Given the description of an element on the screen output the (x, y) to click on. 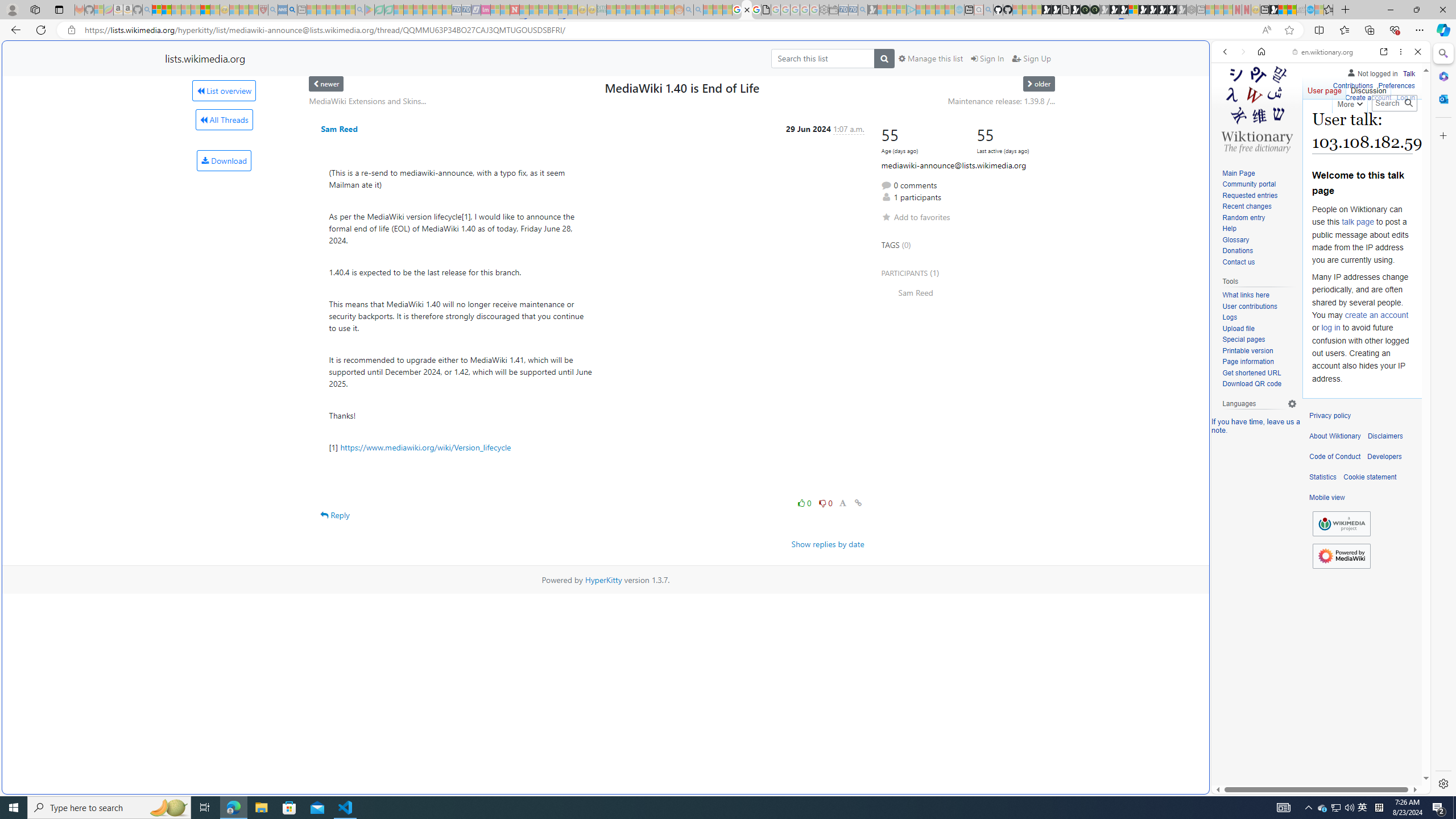
Logs (1229, 317)
Jobs - lastminute.com Investor Portal - Sleeping (485, 9)
Preferences (1396, 85)
Special pages (1259, 339)
Log in (1405, 98)
Printable version (1247, 350)
Recent changes (1246, 206)
log in (1330, 327)
